Given the description of an element on the screen output the (x, y) to click on. 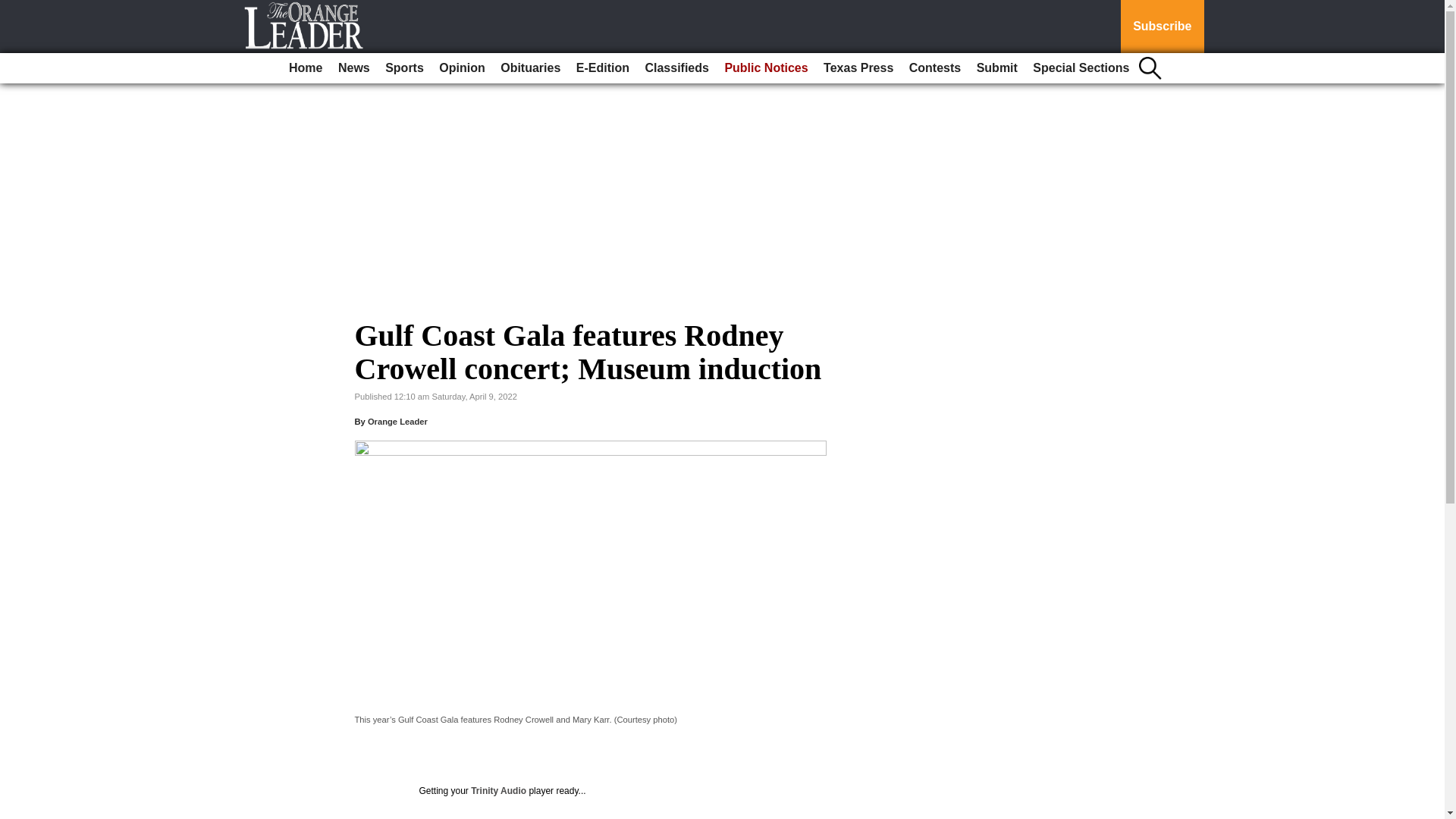
Sports (403, 68)
Submit (997, 68)
Contests (934, 68)
Obituaries (530, 68)
Go (13, 9)
E-Edition (602, 68)
Home (305, 68)
Classifieds (676, 68)
Opinion (461, 68)
Public Notices (765, 68)
